Given the description of an element on the screen output the (x, y) to click on. 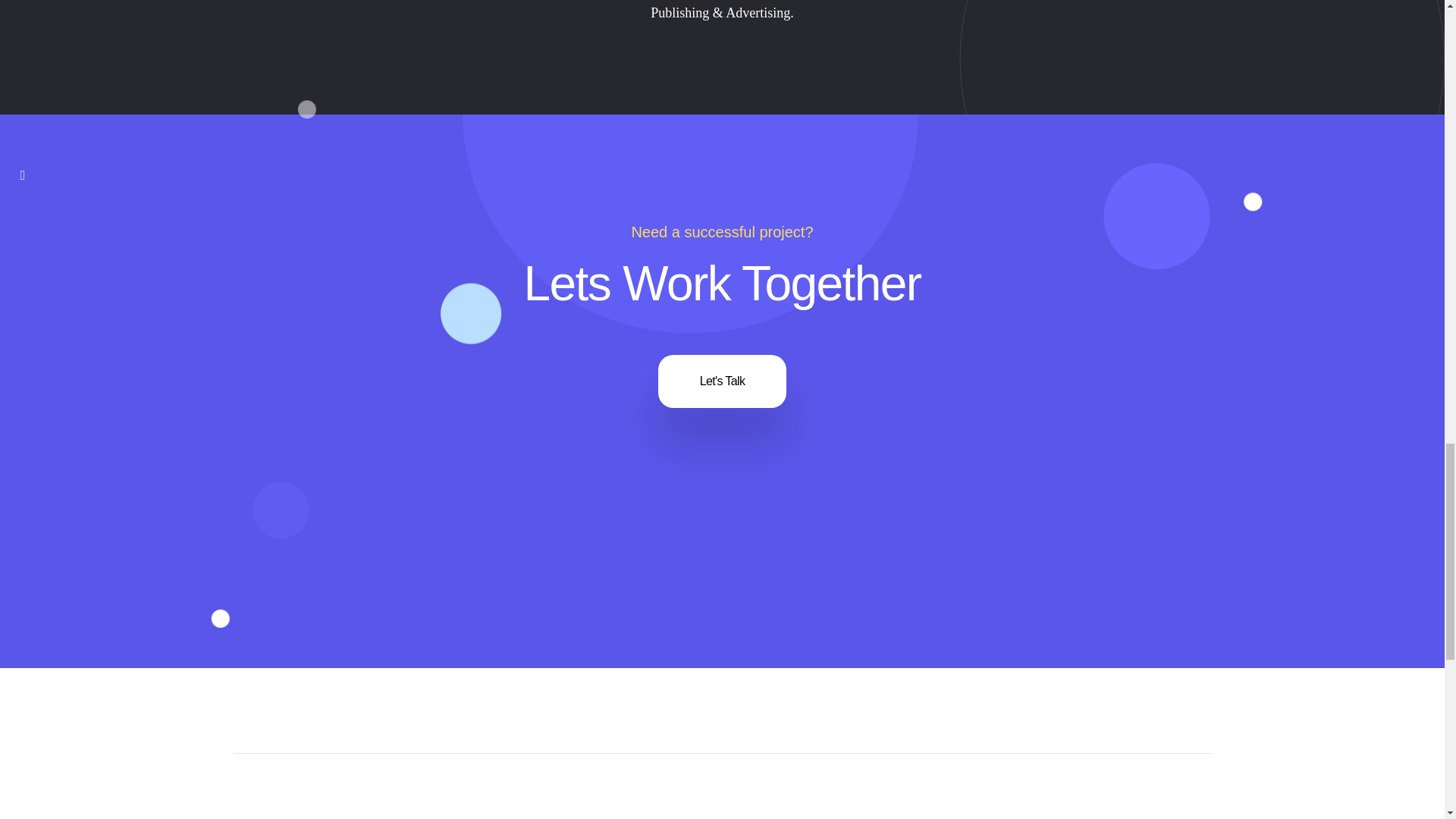
Team Member 3 (122, 296)
